Given the description of an element on the screen output the (x, y) to click on. 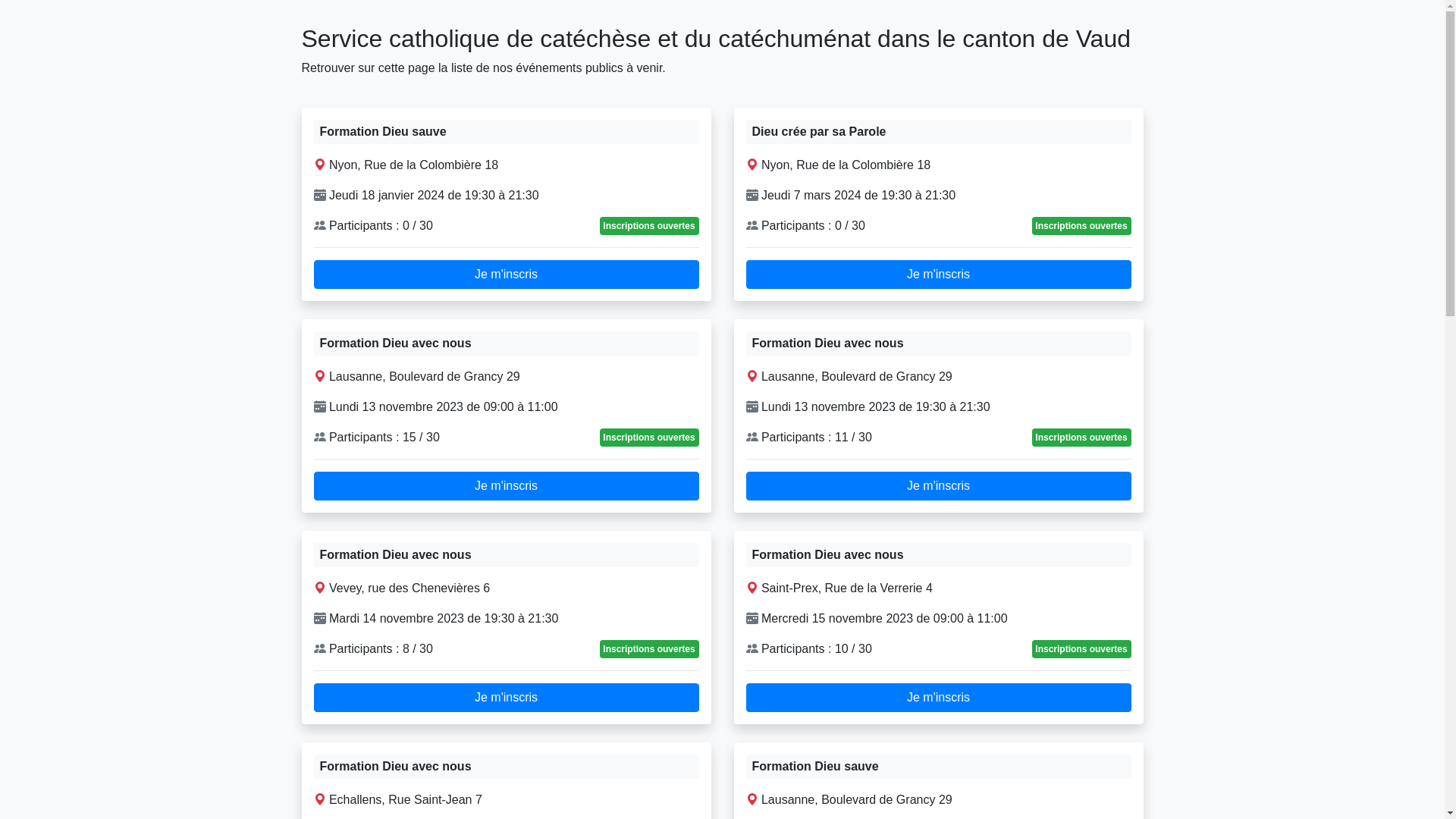
Je m'inscris Element type: text (938, 485)
Je m'inscris Element type: text (938, 274)
Je m'inscris Element type: text (506, 697)
Je m'inscris Element type: text (506, 485)
Je m'inscris Element type: text (506, 274)
Je m'inscris Element type: text (938, 697)
